Given the description of an element on the screen output the (x, y) to click on. 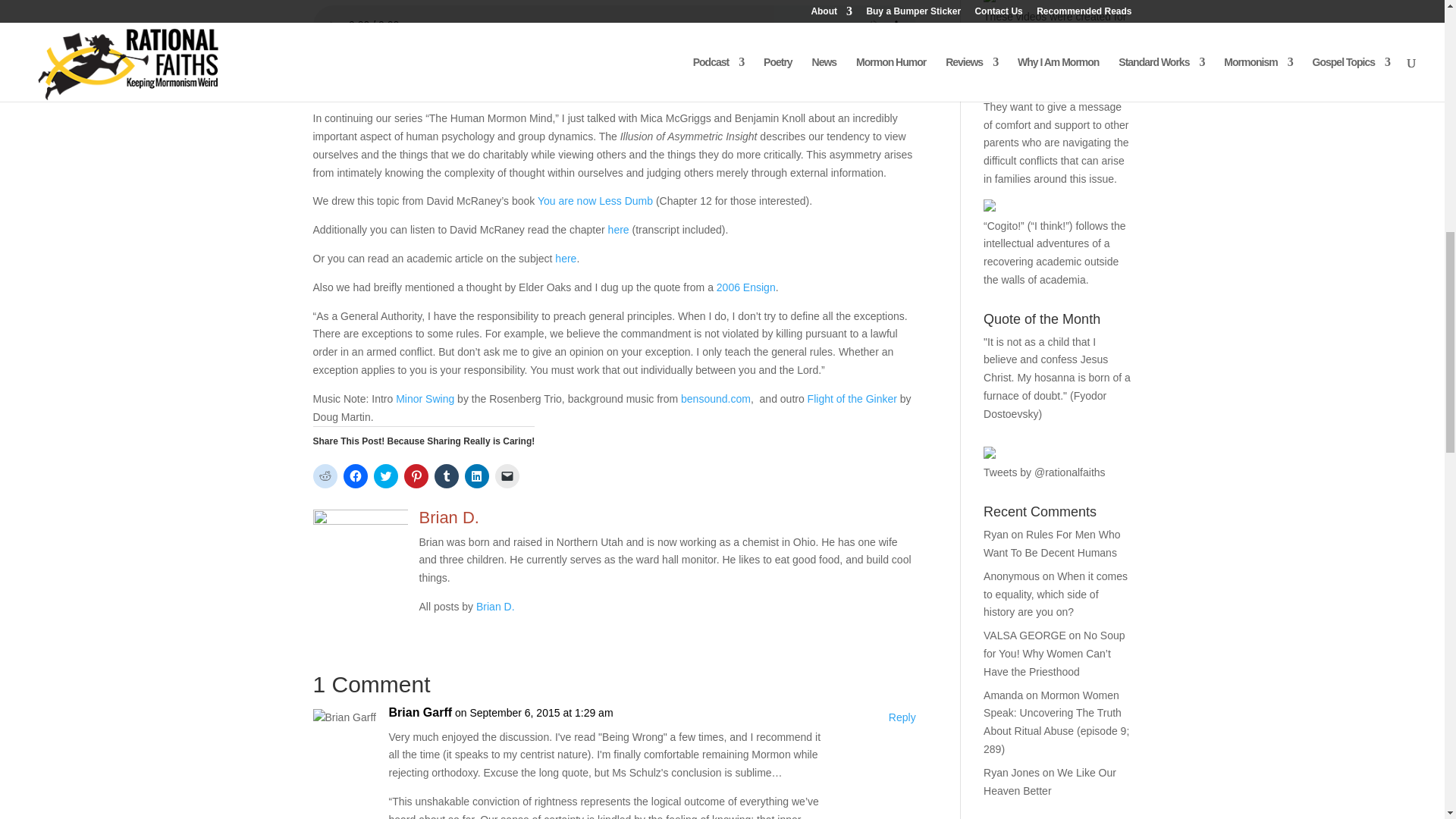
Click to email a link to a friend (506, 476)
Click to share on Twitter (384, 476)
Subscribe on Apple Podcasts (402, 89)
Click to share on Reddit (324, 476)
Click to share on Pinterest (415, 476)
Click to share on Facebook (354, 476)
Posts by Brian D. (495, 606)
Download (481, 60)
Play in new window (402, 60)
Click to share on Tumblr (445, 476)
